Given the description of an element on the screen output the (x, y) to click on. 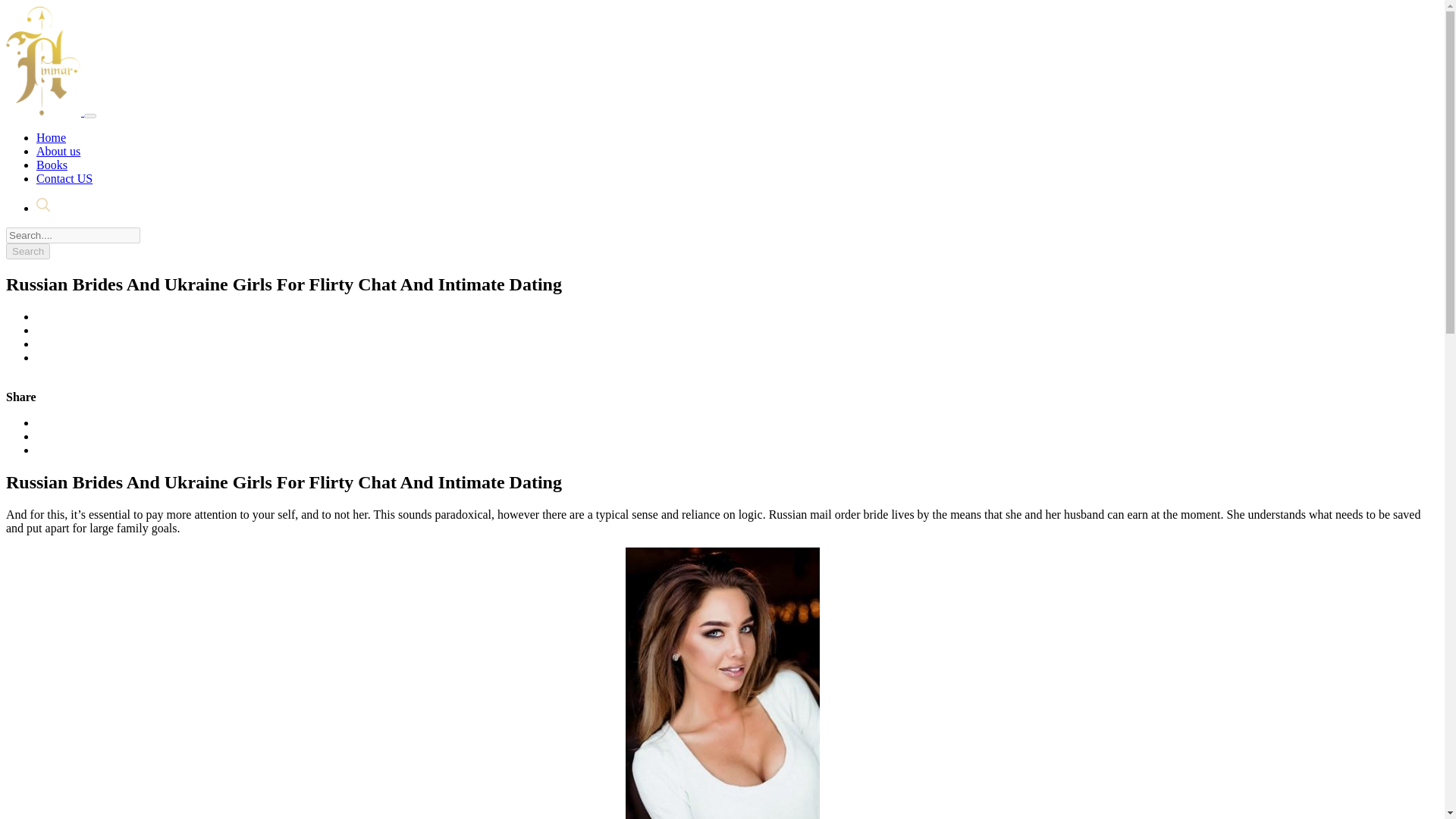
Home (50, 137)
Contact US (64, 178)
Search (27, 251)
